Given the description of an element on the screen output the (x, y) to click on. 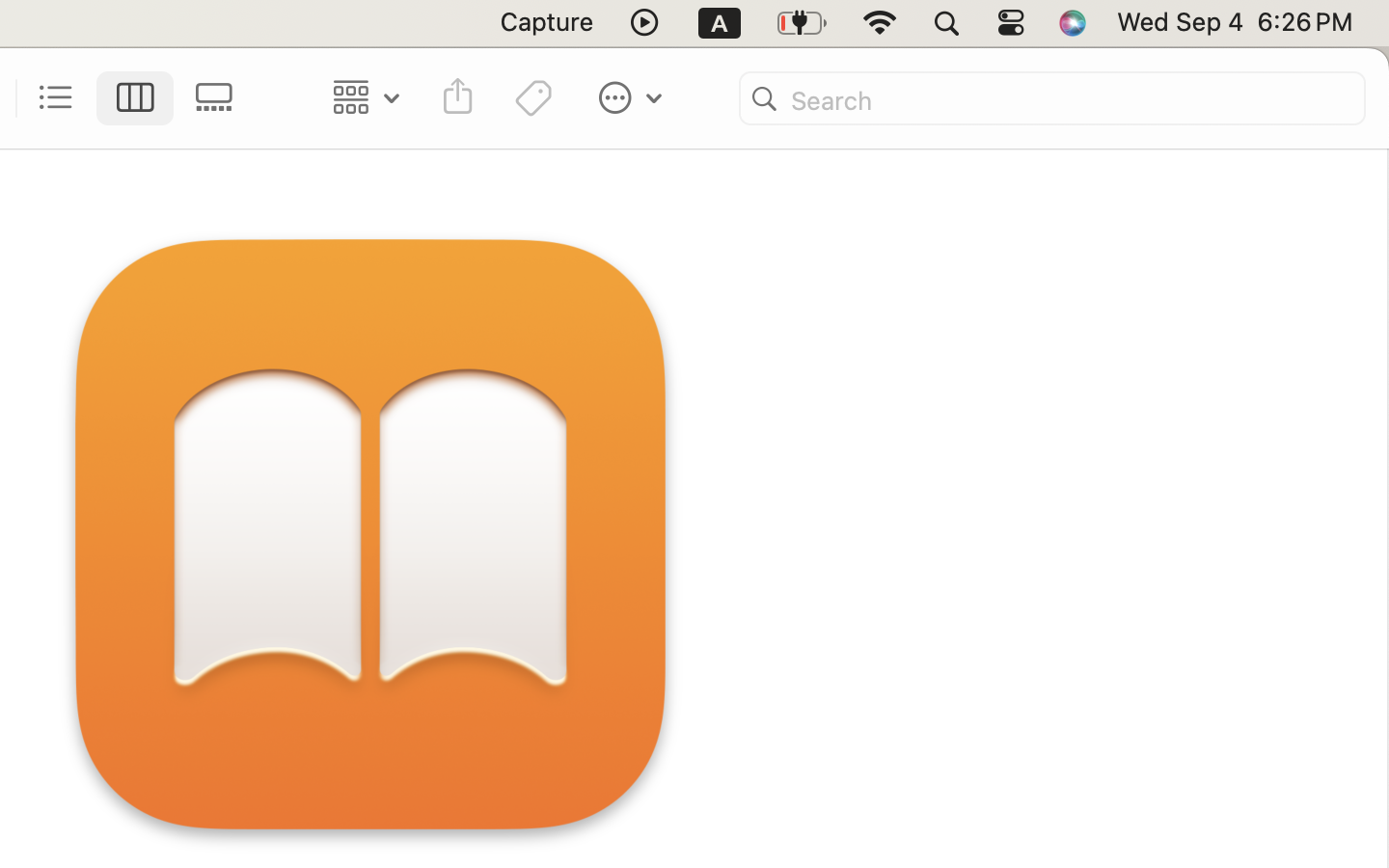
0 Element type: AXRadioButton (219, 97)
1 Element type: AXRadioButton (135, 97)
